Given the description of an element on the screen output the (x, y) to click on. 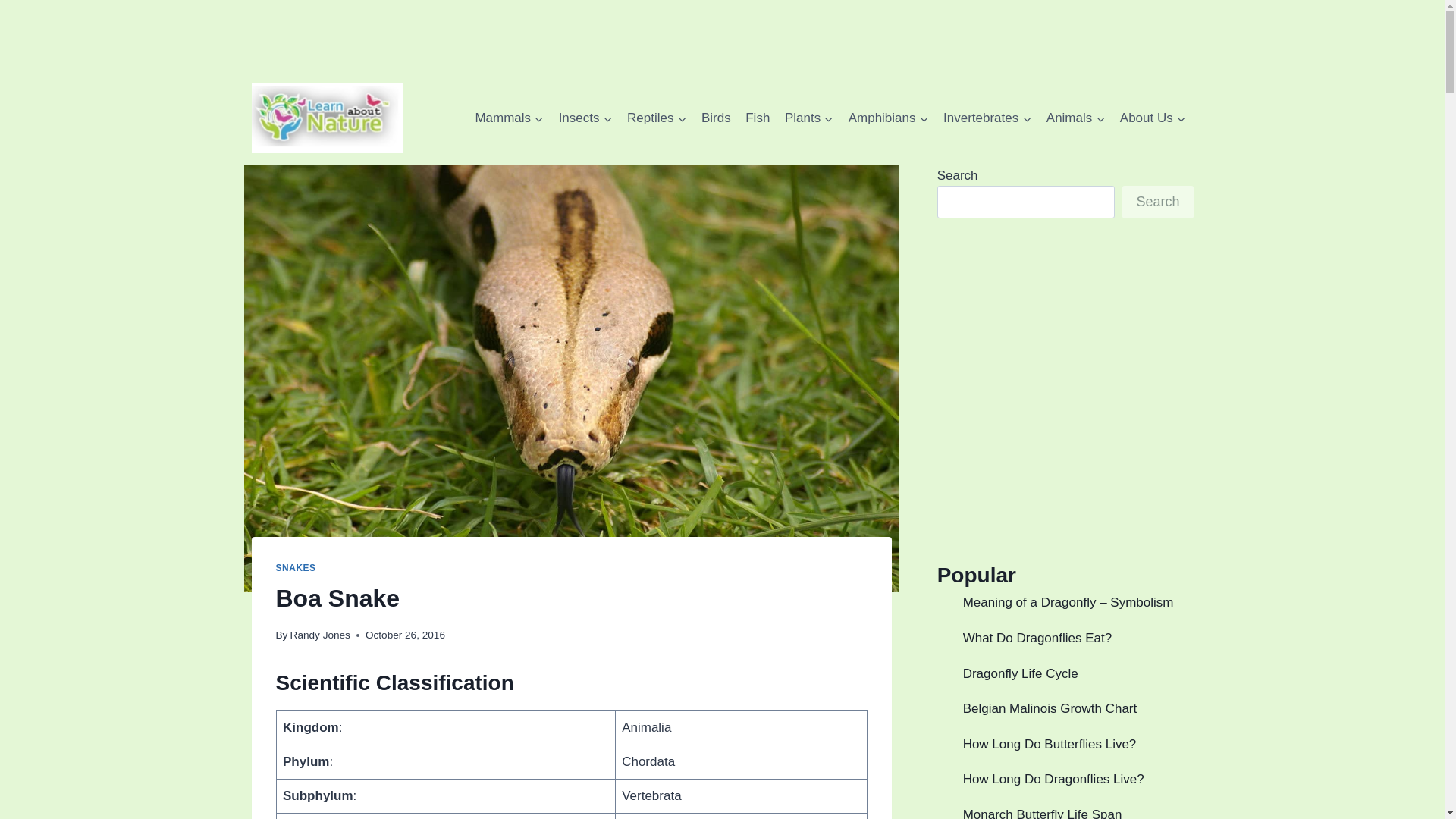
Mammals (509, 117)
Reptiles (657, 117)
Birds (716, 117)
Fish (757, 117)
Plants (809, 117)
Insects (585, 117)
